Given the description of an element on the screen output the (x, y) to click on. 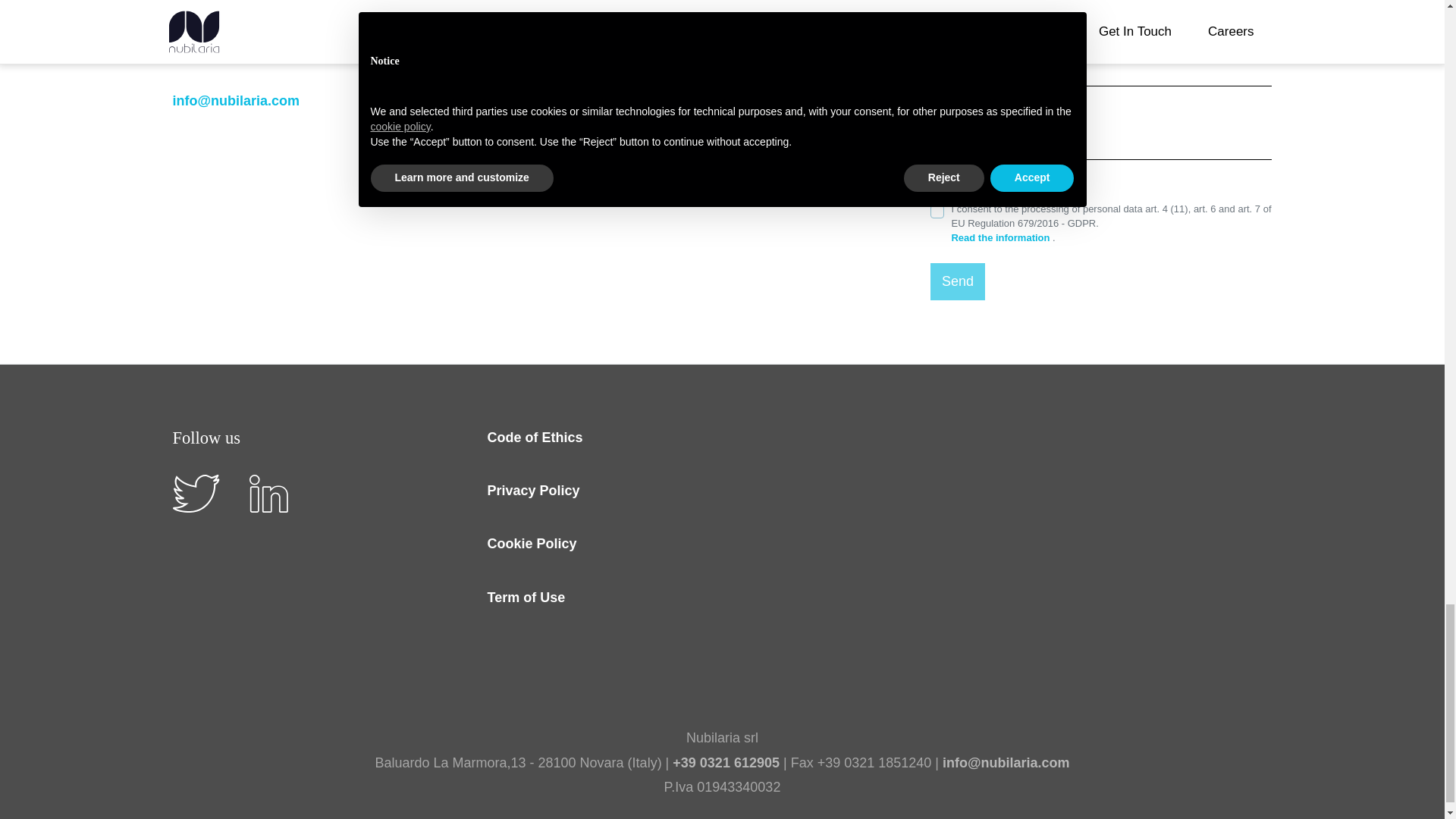
Cookie Policy (531, 543)
Code of Ethics (534, 437)
Read the information (1001, 237)
Term of Use (525, 597)
Send (957, 280)
Privacy Policy (532, 490)
